Given the description of an element on the screen output the (x, y) to click on. 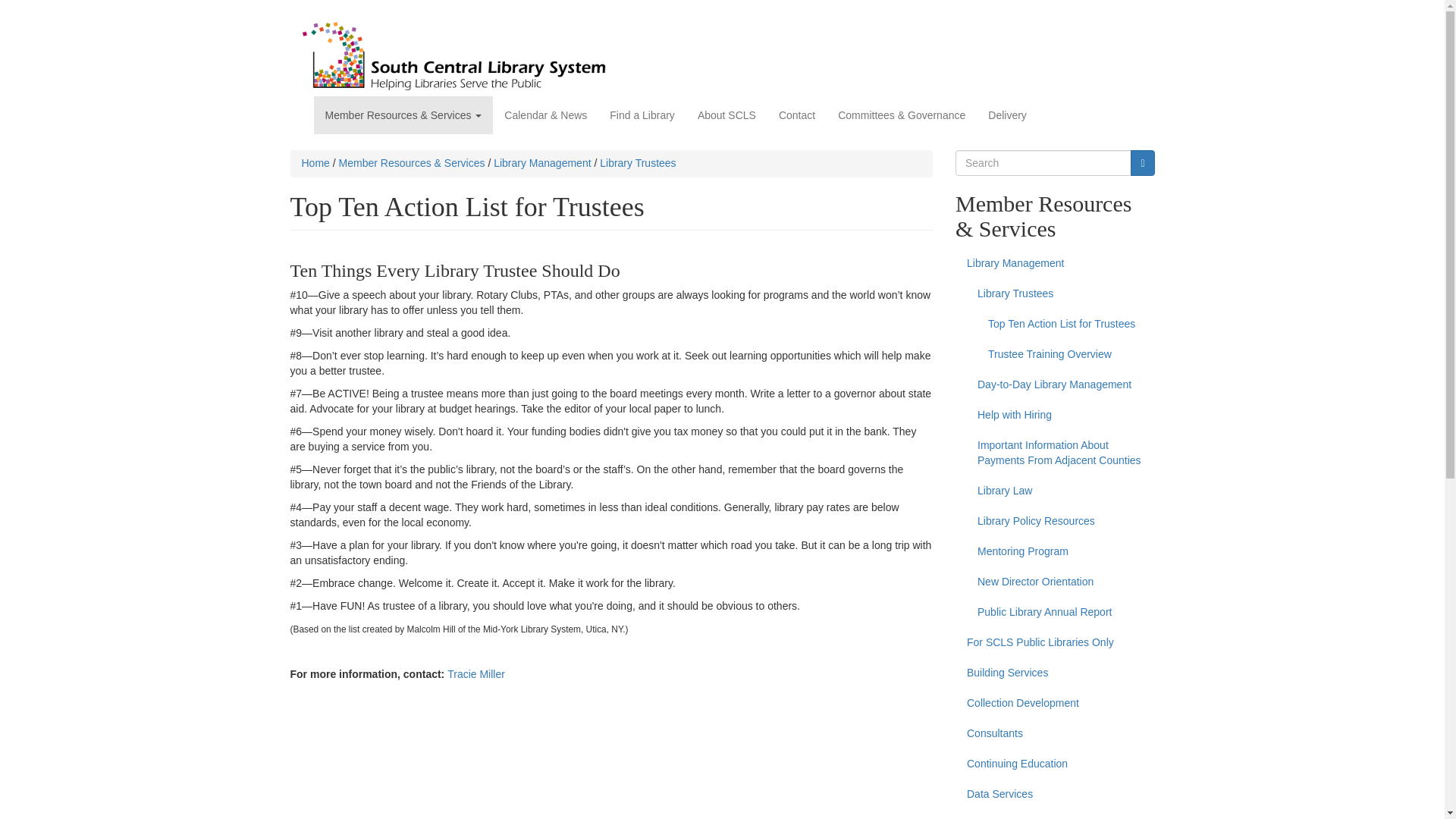
Library Management (542, 162)
Tracie Miller (475, 674)
Library Management (1054, 263)
Library Trustees (1060, 294)
Contact (797, 115)
Delivery (1007, 115)
Home (315, 162)
Library Trustees (637, 162)
Enter the terms you wish to search for. (1043, 162)
Home (458, 56)
Find a Library (641, 115)
About SCLS (726, 115)
